Given the description of an element on the screen output the (x, y) to click on. 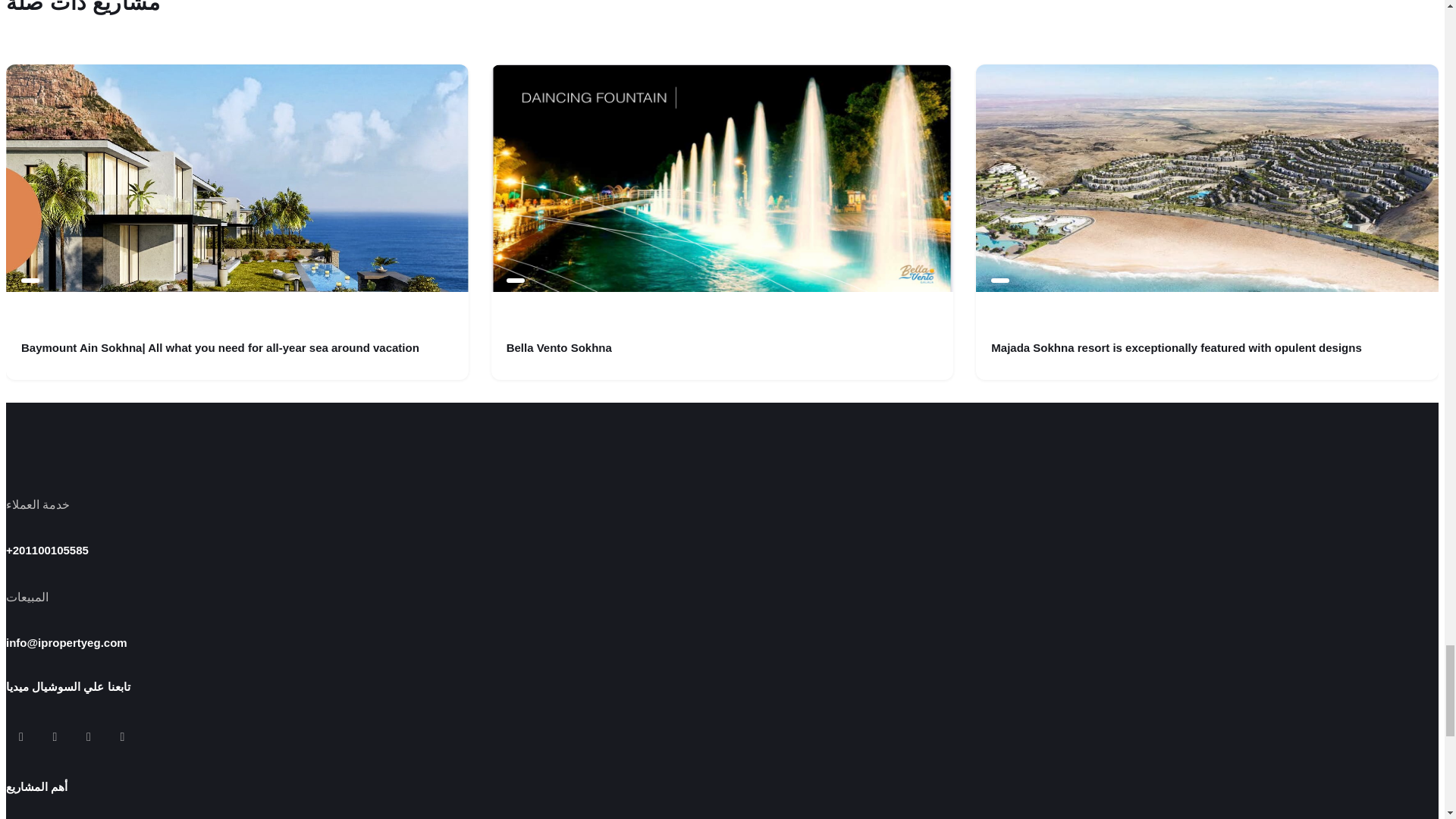
Bella Vento Sokhna (558, 347)
